Given the description of an element on the screen output the (x, y) to click on. 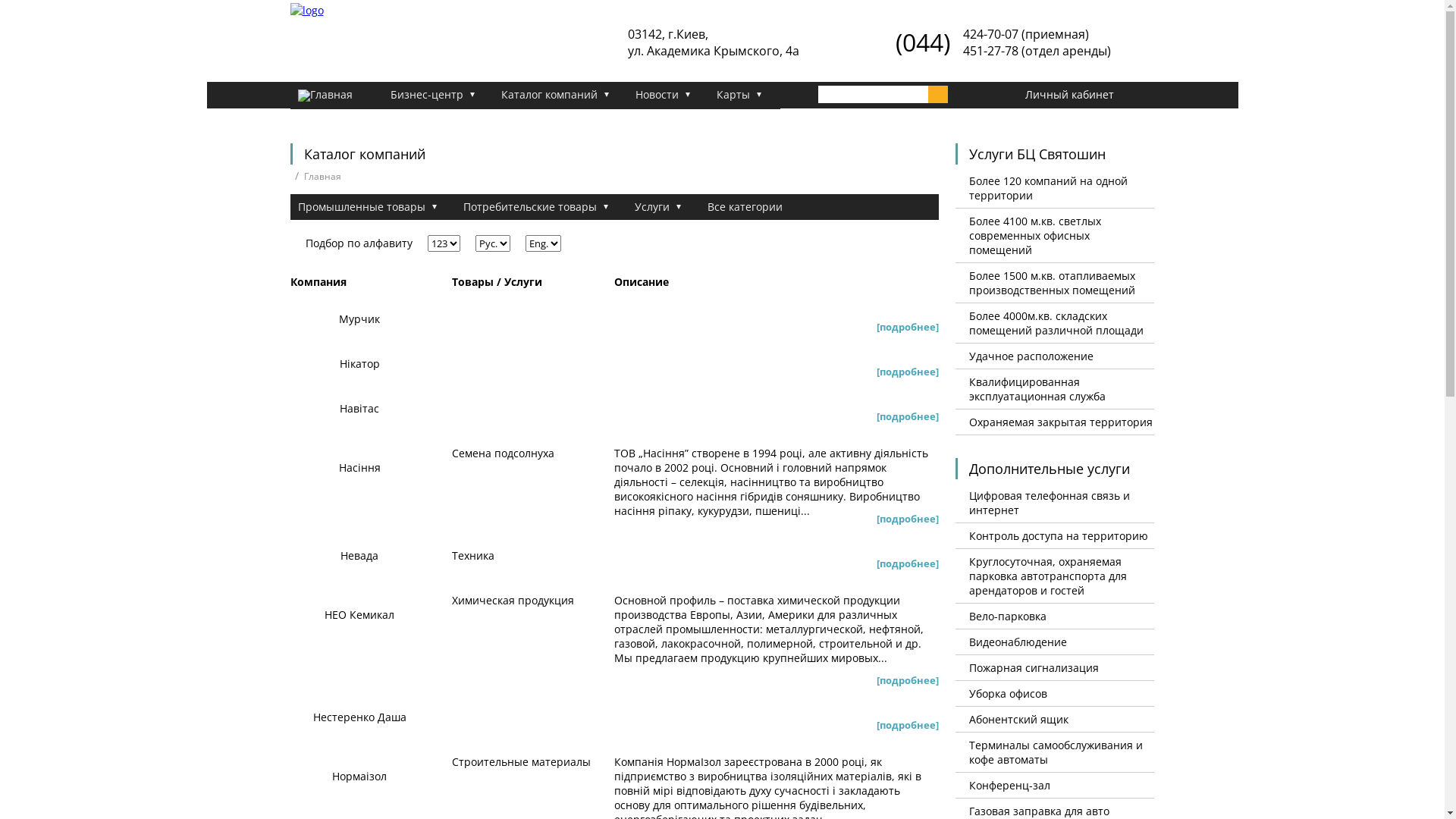
  Element type: text (937, 94)
